Given the description of an element on the screen output the (x, y) to click on. 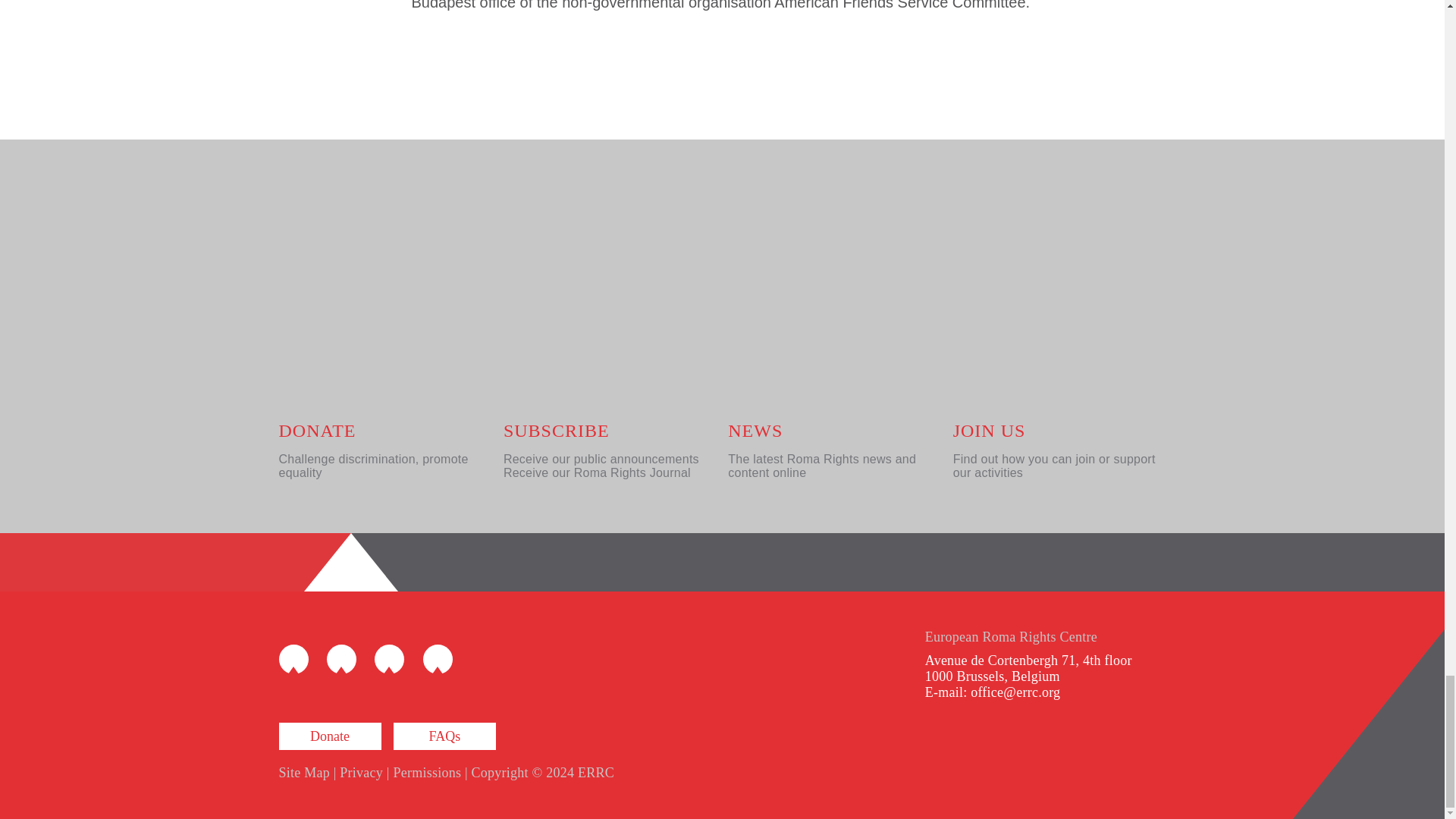
SUBSCRIBE (556, 430)
DONATE (317, 430)
NEWS (755, 430)
